Given the description of an element on the screen output the (x, y) to click on. 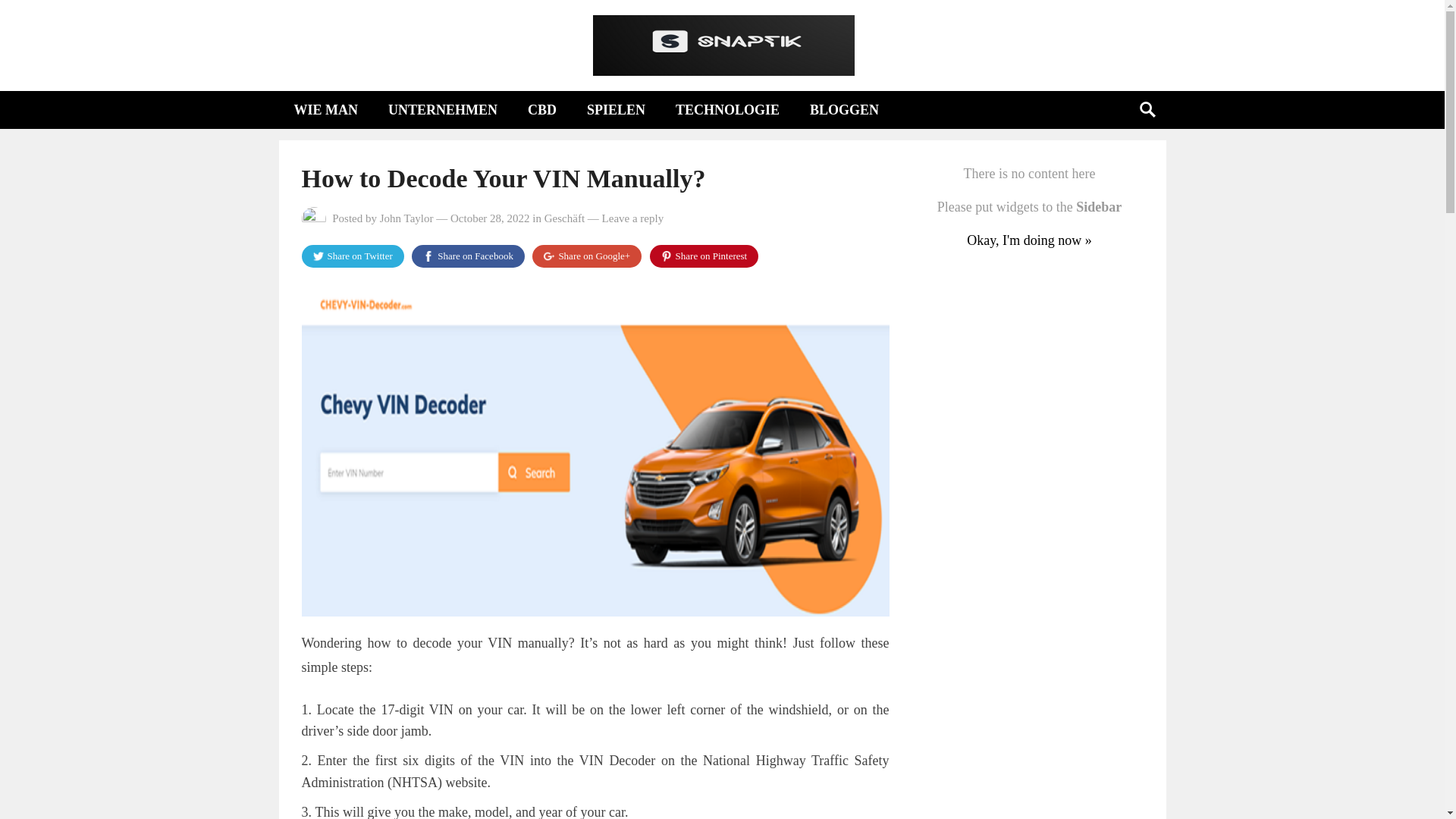
SPIELEN (616, 109)
John Taylor (406, 218)
Leave a reply (632, 218)
Posts by John Taylor (406, 218)
TECHNOLOGIE (727, 109)
Share on Twitter (352, 255)
Share on Facebook (468, 255)
Share on Pinterest (703, 255)
WIE MAN (326, 109)
BLOGGEN (843, 109)
UNTERNEHMEN (442, 109)
CBD (542, 109)
